Given the description of an element on the screen output the (x, y) to click on. 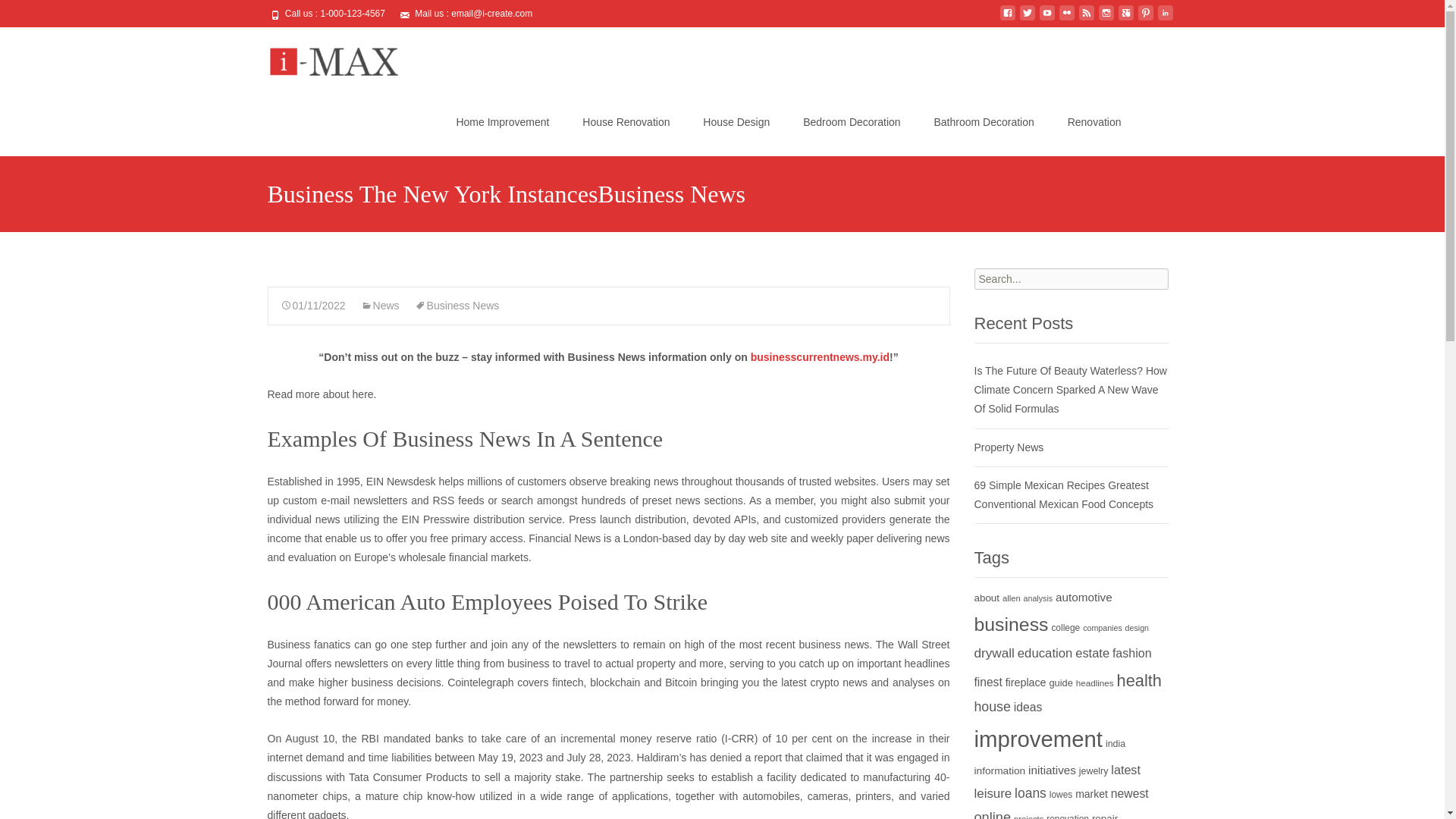
initiatives (1051, 769)
guide (1059, 682)
information (999, 770)
leisure (992, 793)
design (1136, 627)
House Design (735, 121)
fireplace (1026, 682)
Renovation (1094, 121)
india (1115, 743)
renovation (1067, 816)
health (1138, 680)
finest (987, 681)
feed (1085, 19)
